Given the description of an element on the screen output the (x, y) to click on. 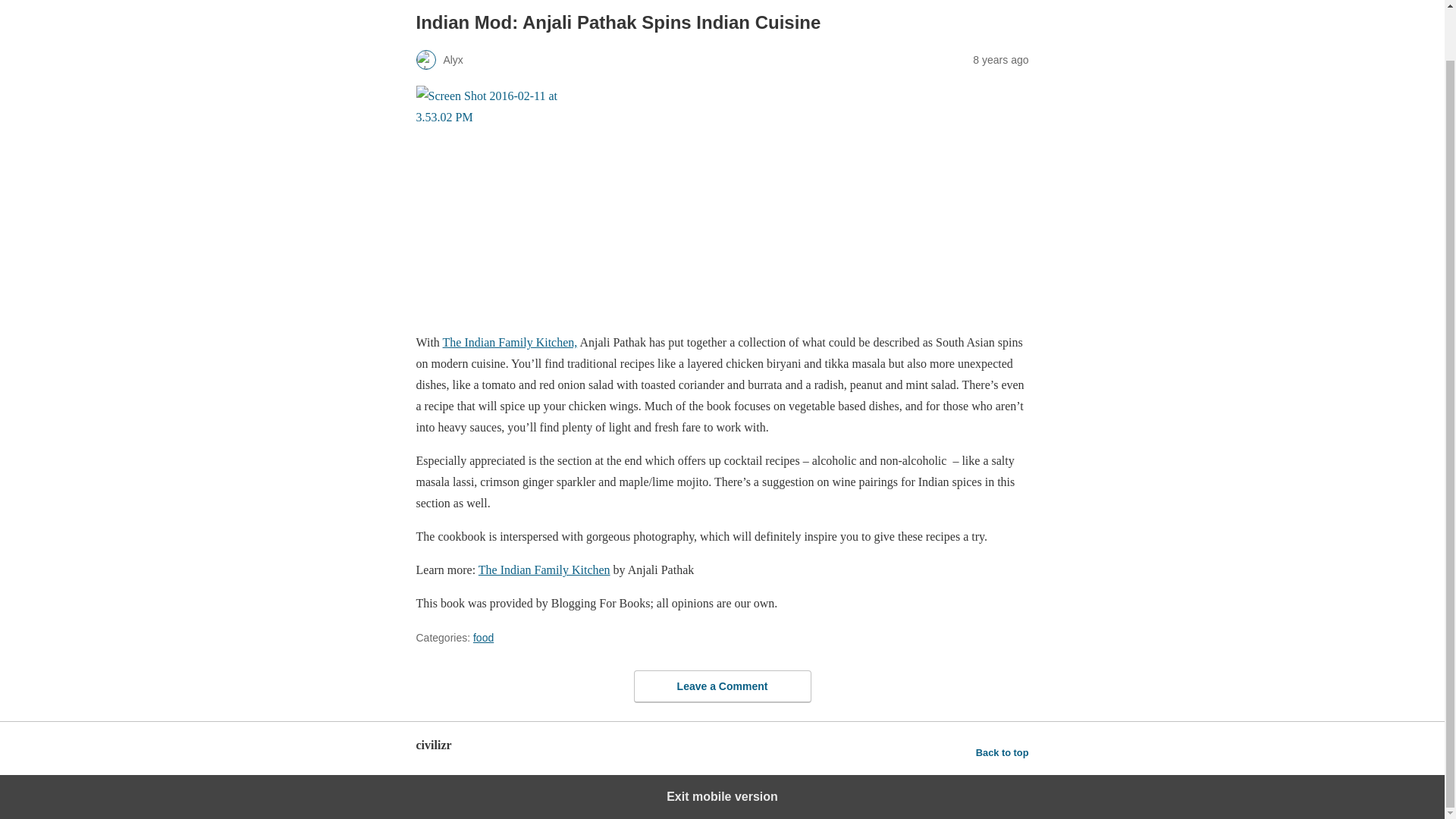
food (483, 637)
The Indian Family Kitchen (544, 569)
The Indian Family Kitchen, (510, 341)
Back to top (1002, 752)
Leave a Comment (721, 685)
